Given the description of an element on the screen output the (x, y) to click on. 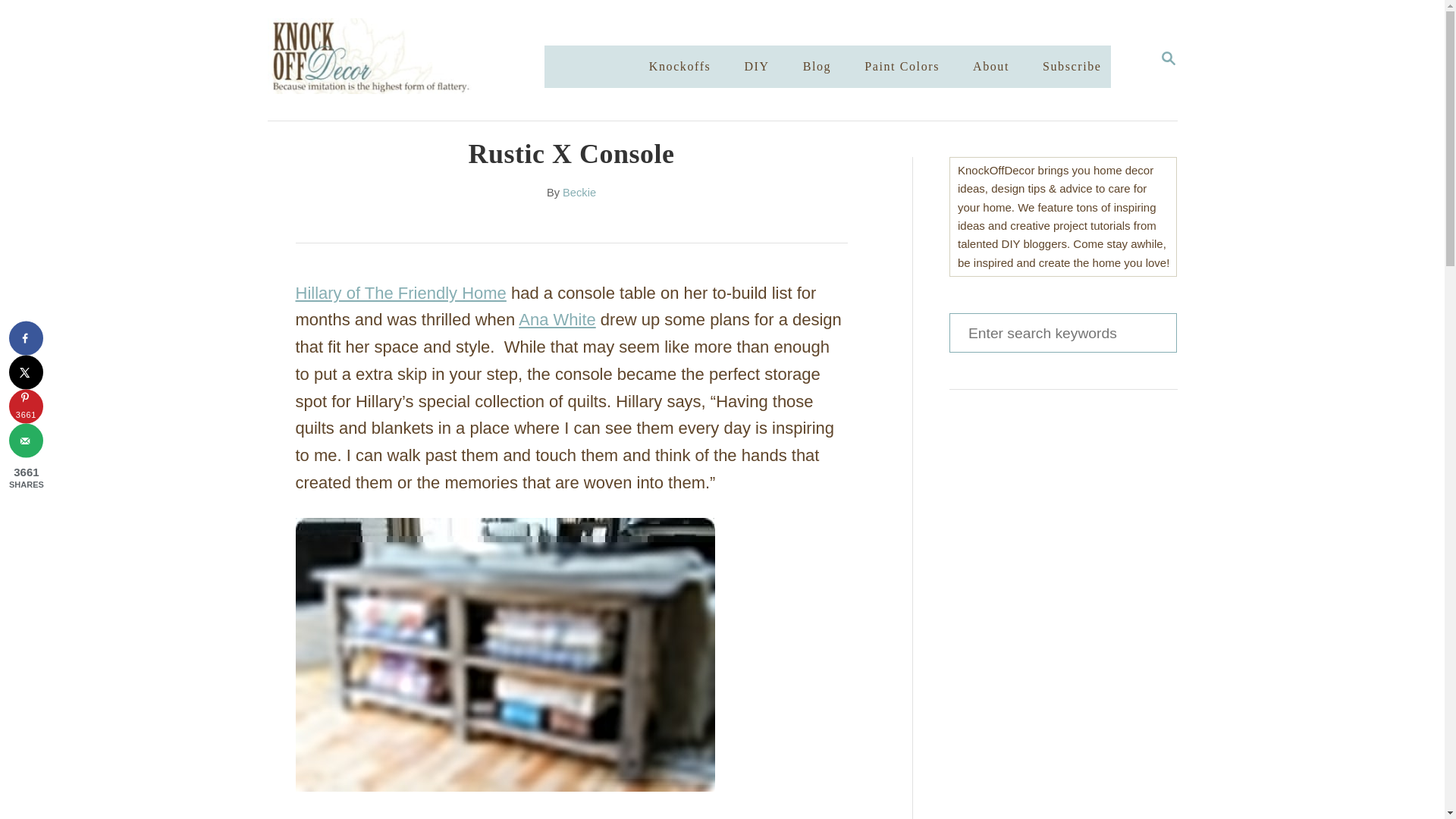
Send over email (25, 440)
DIY (756, 66)
Beckie (578, 192)
Share on X (1167, 59)
Subscribe (25, 372)
X Console18 (1071, 66)
Paint Colors (504, 656)
MAGNIFYING GLASS (902, 66)
Share on Facebook (1167, 58)
